Given the description of an element on the screen output the (x, y) to click on. 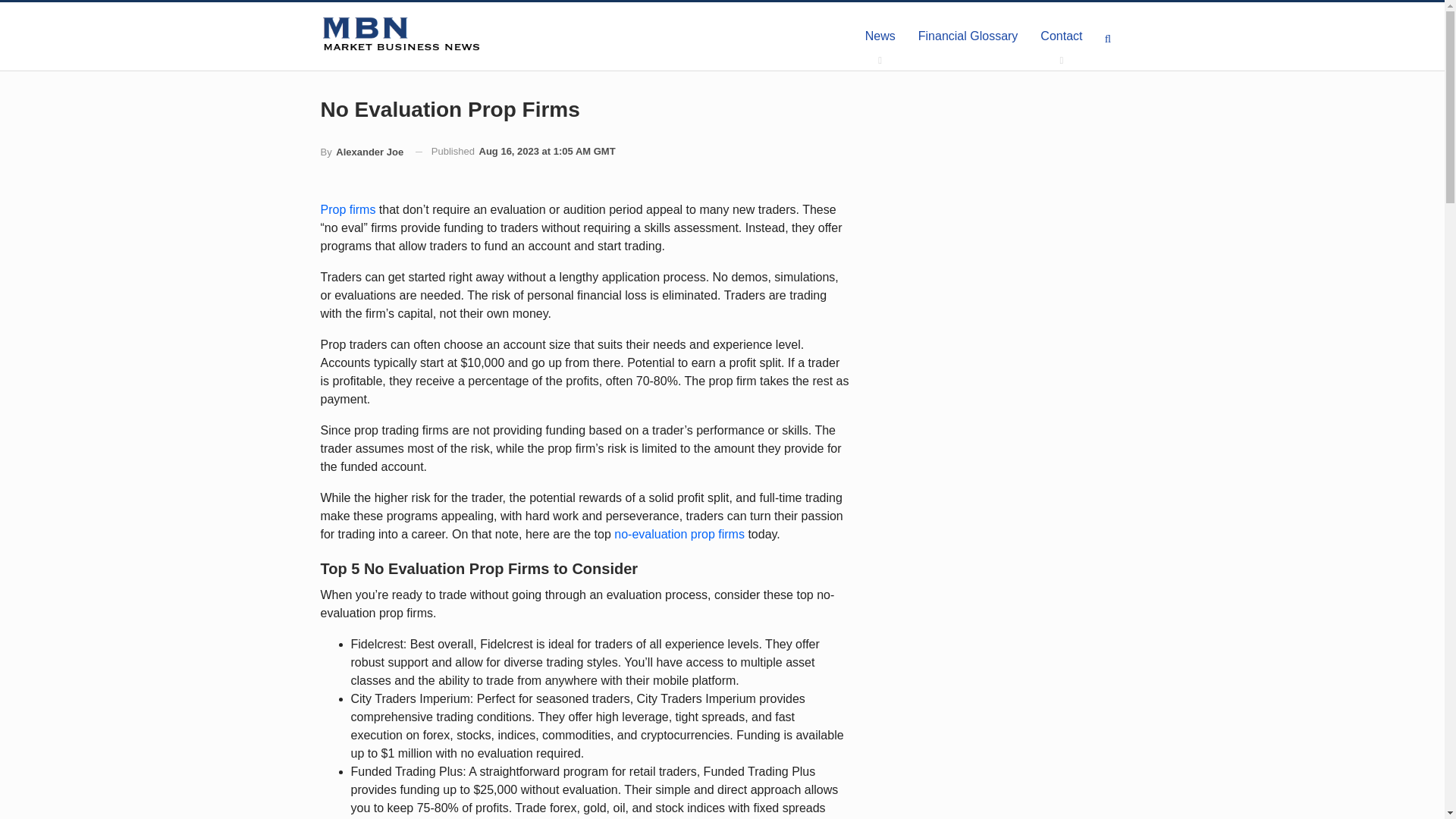
Prop firms (347, 209)
Financial Glossary (968, 36)
no-evaluation prop firms (679, 533)
Browse Author Articles (361, 152)
By Alexander Joe (361, 152)
Contact (1061, 36)
